Given the description of an element on the screen output the (x, y) to click on. 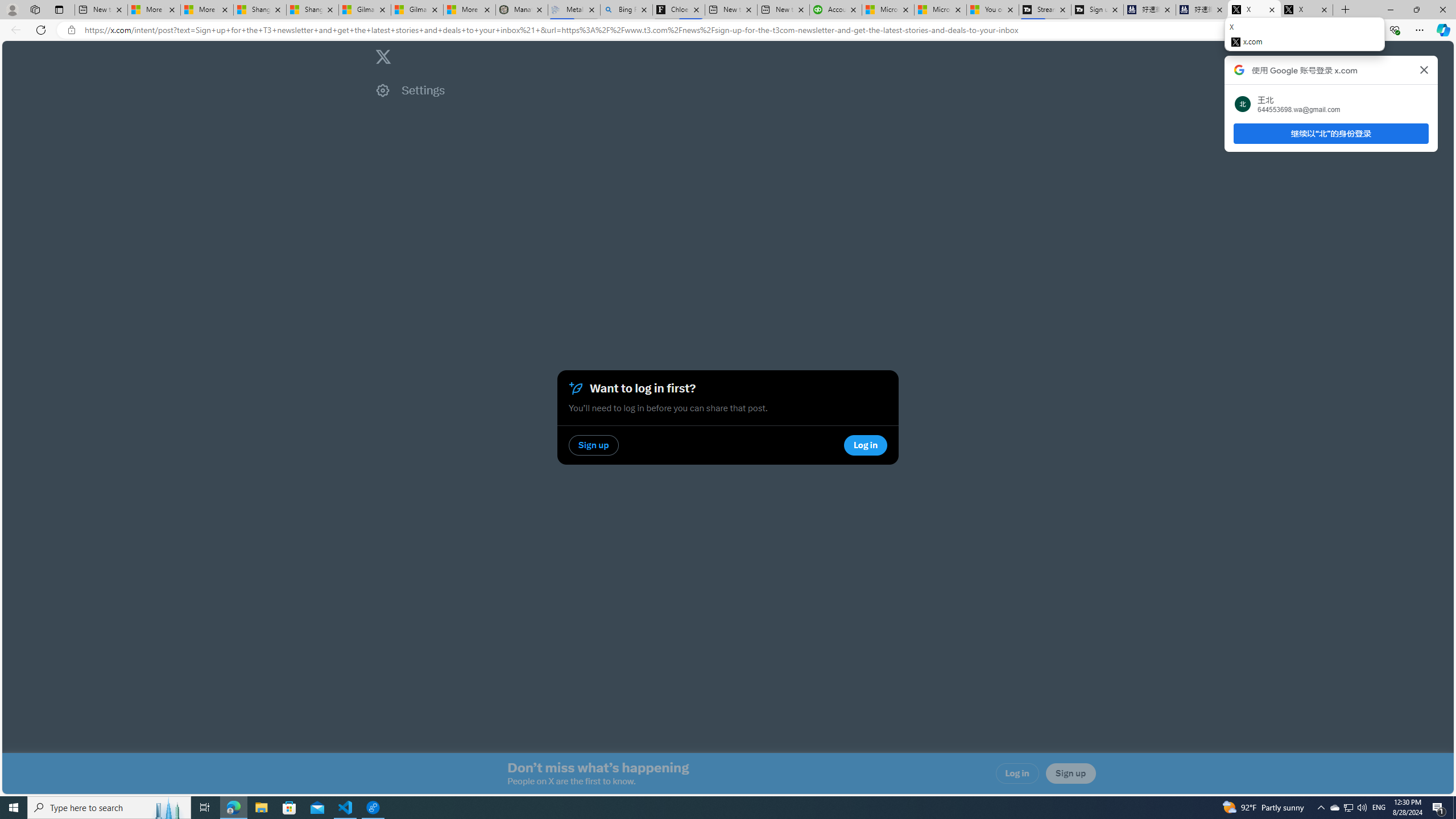
Chloe Sorvino (678, 9)
Accounting Software for Accountants, CPAs and Bookkeepers (835, 9)
Shopping in Microsoft Edge (1268, 29)
